Given the description of an element on the screen output the (x, y) to click on. 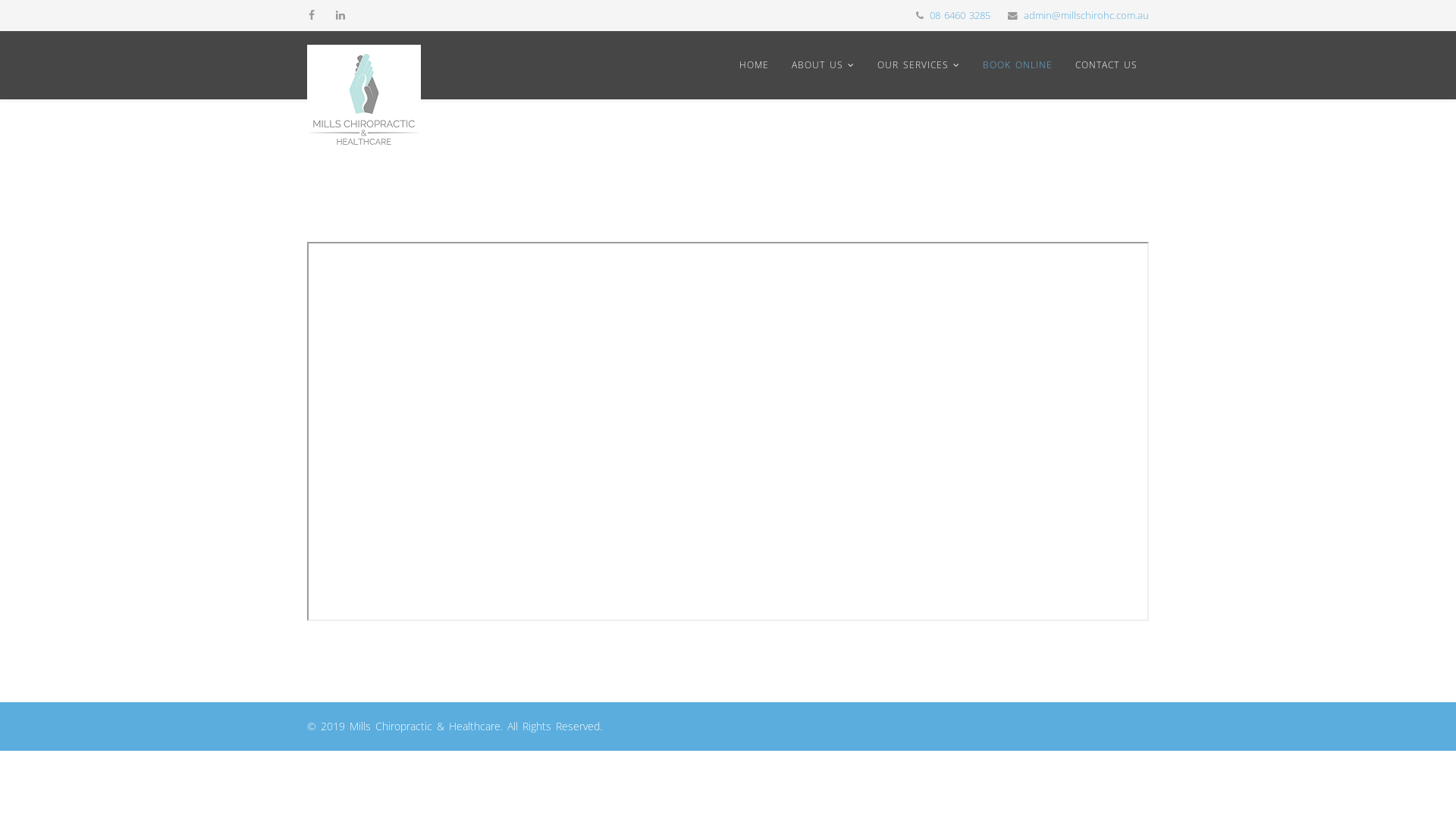
BOOK ONLINE Element type: text (1017, 65)
08 6460 3285 Element type: text (959, 15)
admin@millschirohc.com.au Element type: text (1085, 15)
OUR SERVICES Element type: text (918, 65)
HOME Element type: text (754, 65)
CONTACT US Element type: text (1105, 65)
ABOUT US Element type: text (823, 65)
